Given the description of an element on the screen output the (x, y) to click on. 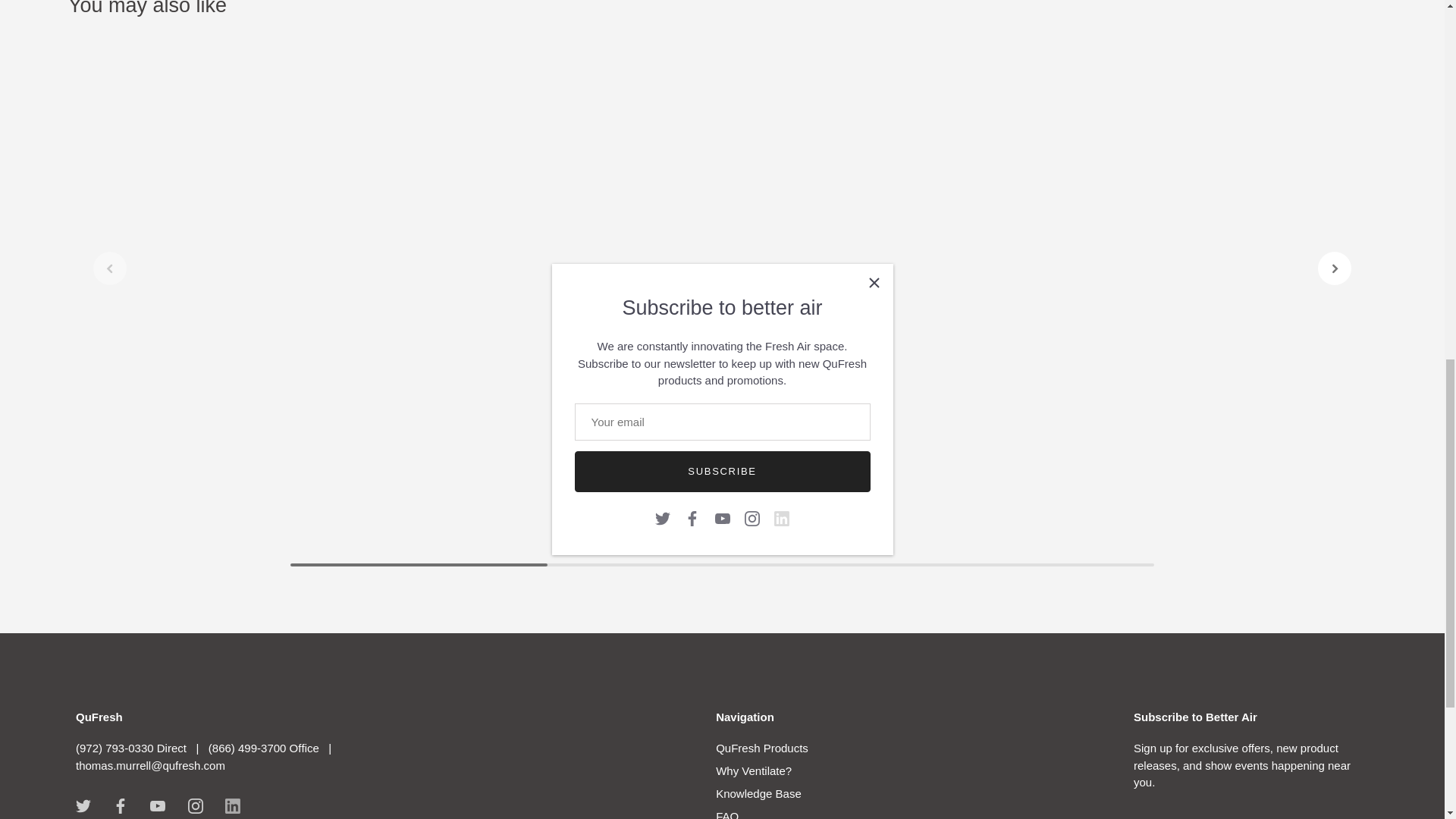
Instagram (195, 806)
Youtube (157, 806)
tel:9707930330 (133, 748)
tel:8664993700 (263, 748)
Twitter (82, 806)
